Given the description of an element on the screen output the (x, y) to click on. 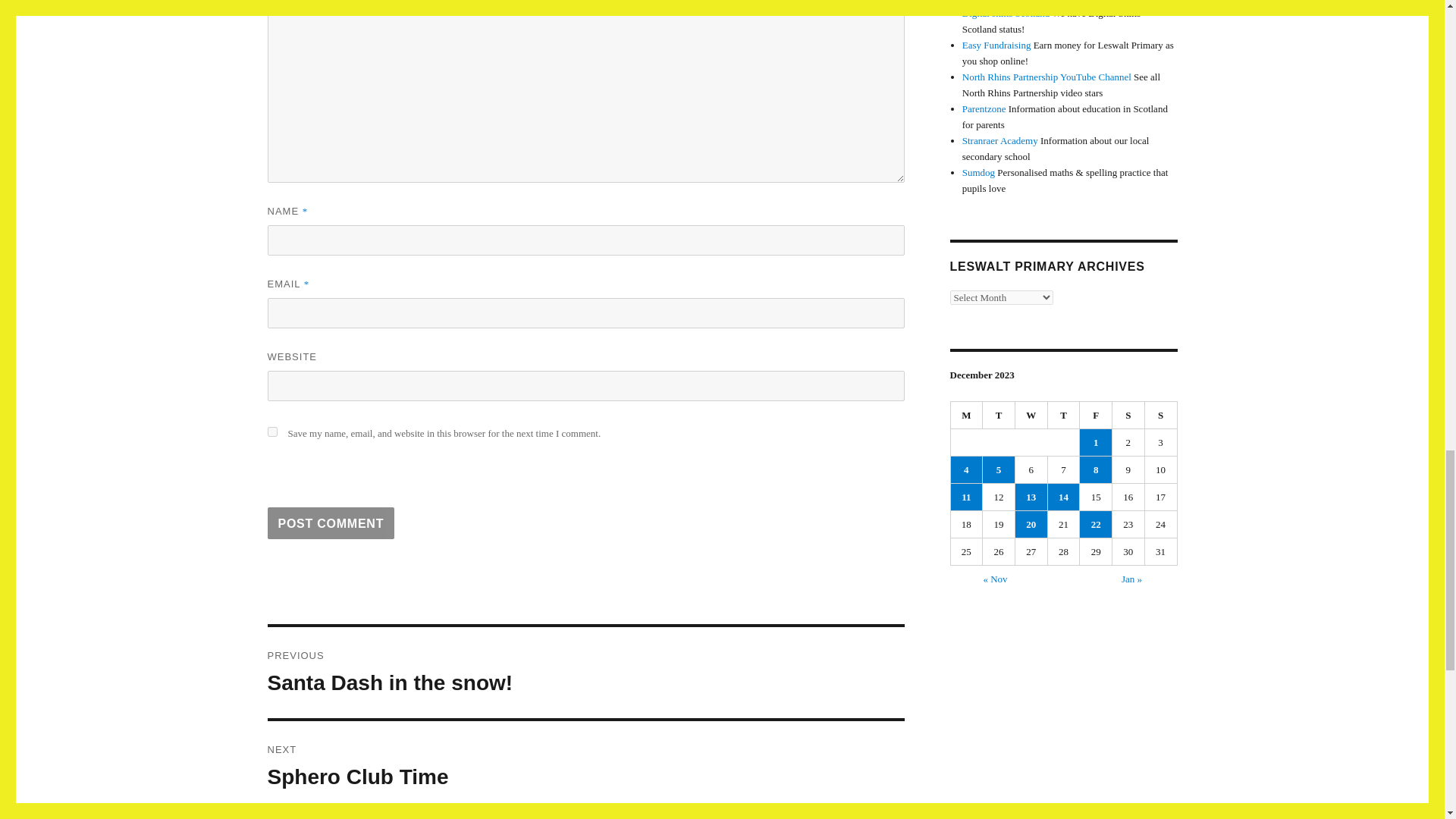
North Rhins Partnership YouTube Channel (1046, 76)
Friday (1096, 415)
yes (271, 431)
Thursday (1064, 415)
Information about our local secondary school (1000, 140)
Tuesday (998, 415)
Post Comment (330, 522)
Sunday (1160, 415)
Earn money for Leswalt Primary as you shop online! (585, 766)
